Given the description of an element on the screen output the (x, y) to click on. 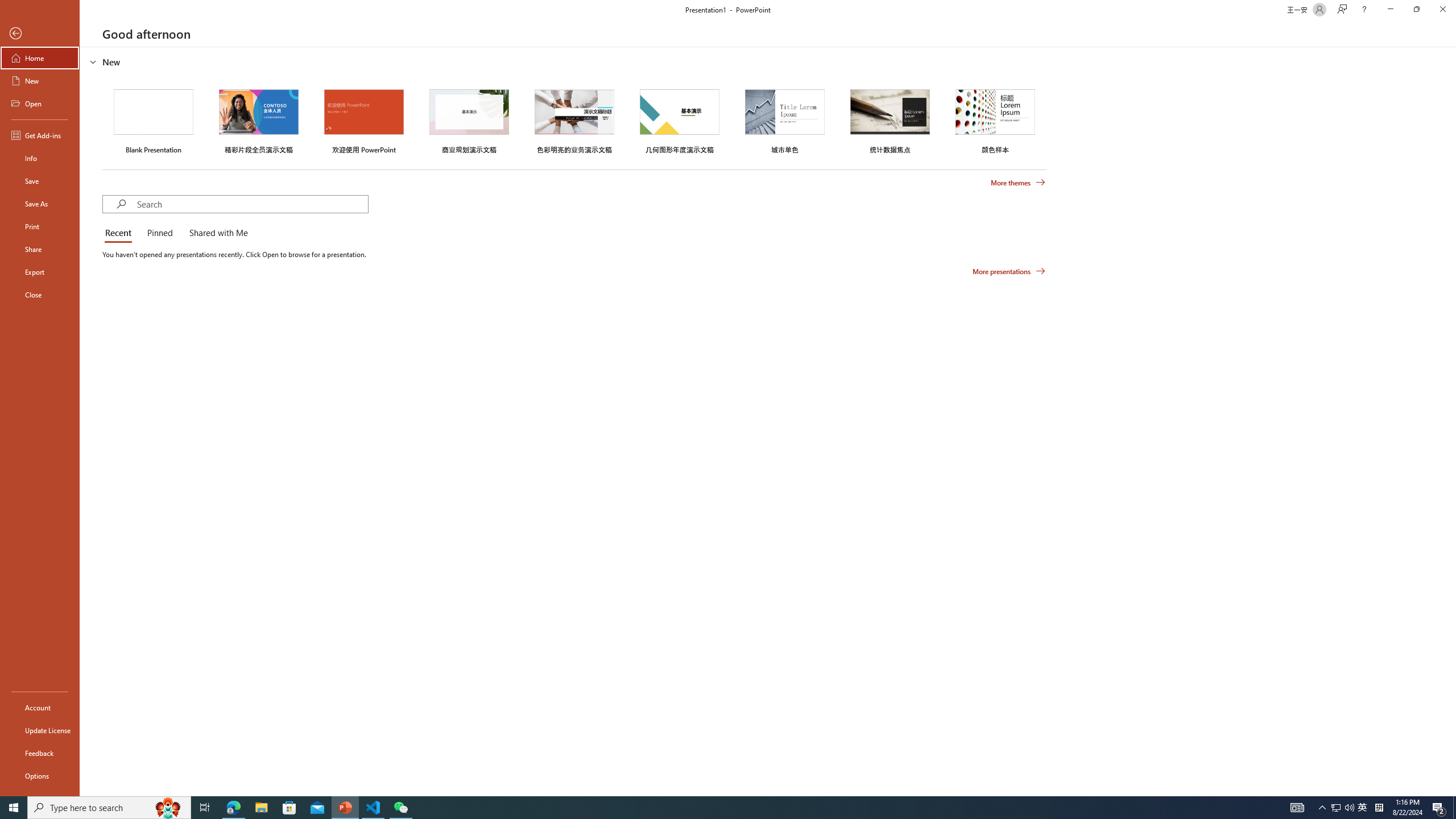
Export (40, 271)
Hide or show region (92, 61)
Update License (40, 730)
More presentations (1008, 270)
More themes (1018, 182)
Pinned (159, 233)
